Given the description of an element on the screen output the (x, y) to click on. 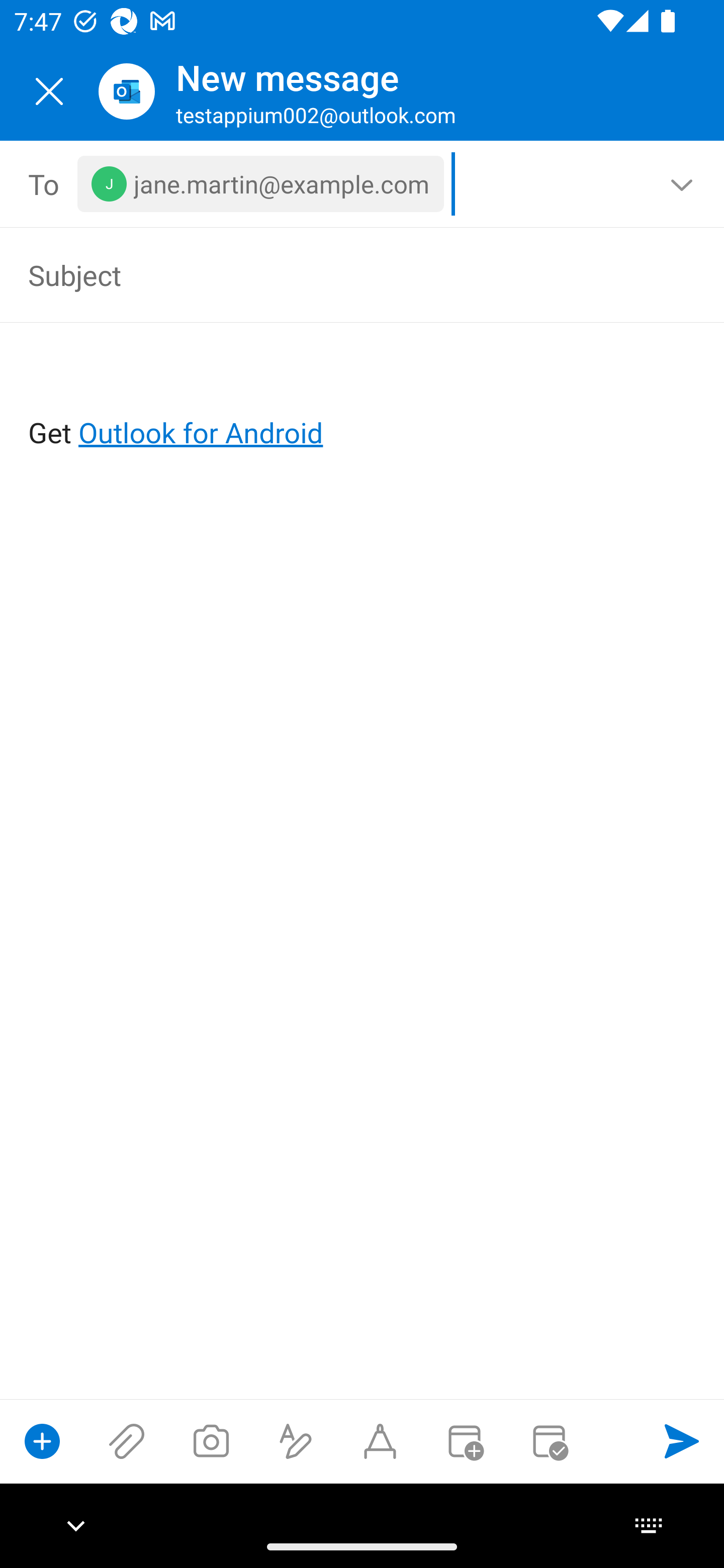
Close (49, 91)
To, 1 recipient <jane.martin@example.com> (362, 184)
Subject (333, 274)


Get Outlook for Android (363, 400)
Show compose options (42, 1440)
Attach files (126, 1440)
Take a photo (210, 1440)
Show formatting options (295, 1440)
Start Ink compose (380, 1440)
Convert to event (464, 1440)
Send availability (548, 1440)
Send (681, 1440)
